Given the description of an element on the screen output the (x, y) to click on. 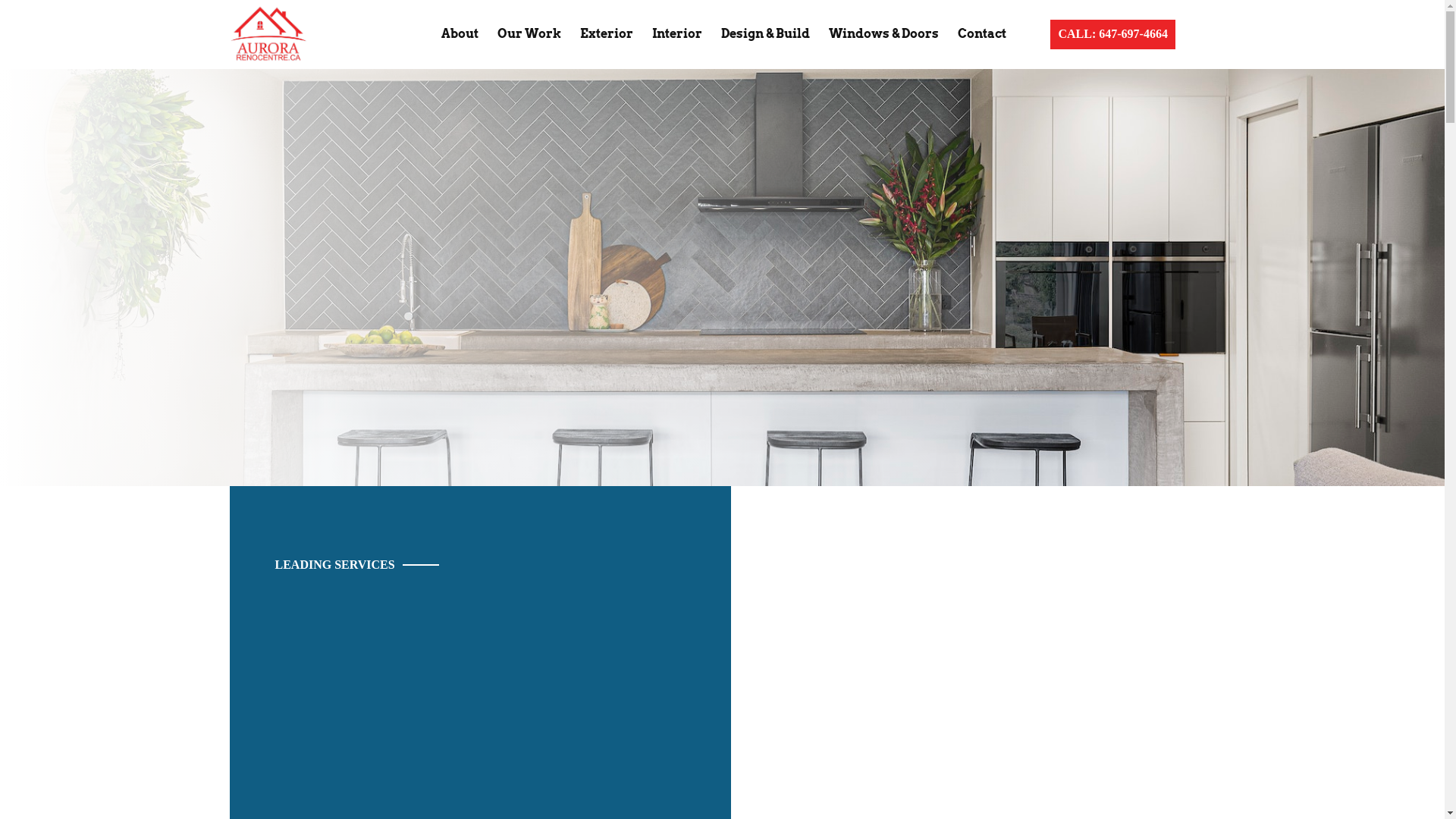
Interior Element type: text (677, 33)
Design & Build Element type: text (765, 33)
Exterior Element type: text (606, 33)
Windows & Doors Element type: text (883, 33)
About Element type: text (459, 33)
Contact Element type: text (981, 33)
CALL: 647-697-4664 Element type: text (1112, 33)
Our Work Element type: text (528, 33)
